Given the description of an element on the screen output the (x, y) to click on. 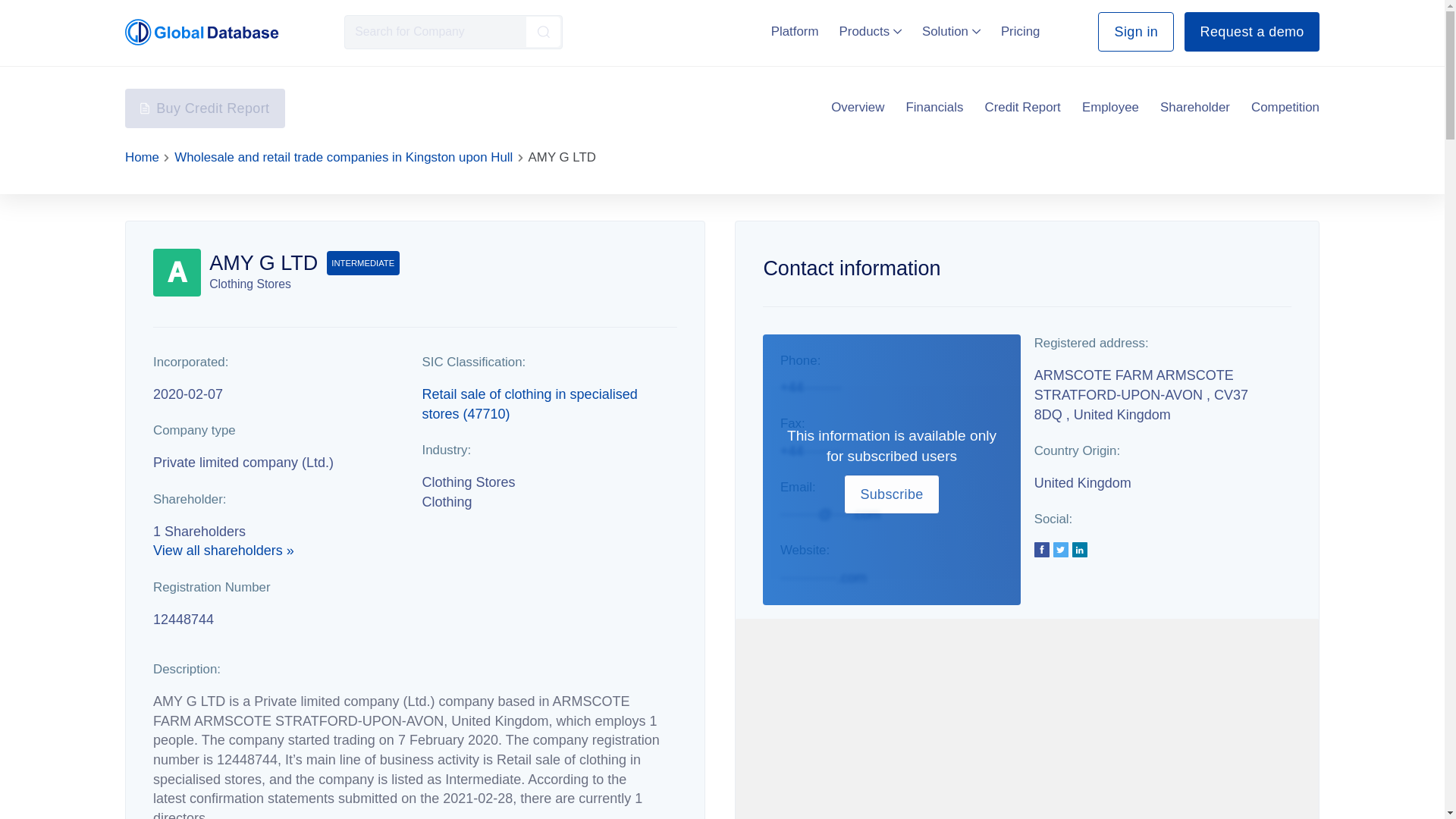
Overview (857, 107)
Sign in (1135, 31)
Platform (794, 31)
Employee (1109, 107)
Financials (934, 107)
Buy Credit Report (205, 107)
Pricing (1021, 31)
Credit Report (1023, 107)
Request a demo (1252, 31)
Shareholder (1195, 107)
